Given the description of an element on the screen output the (x, y) to click on. 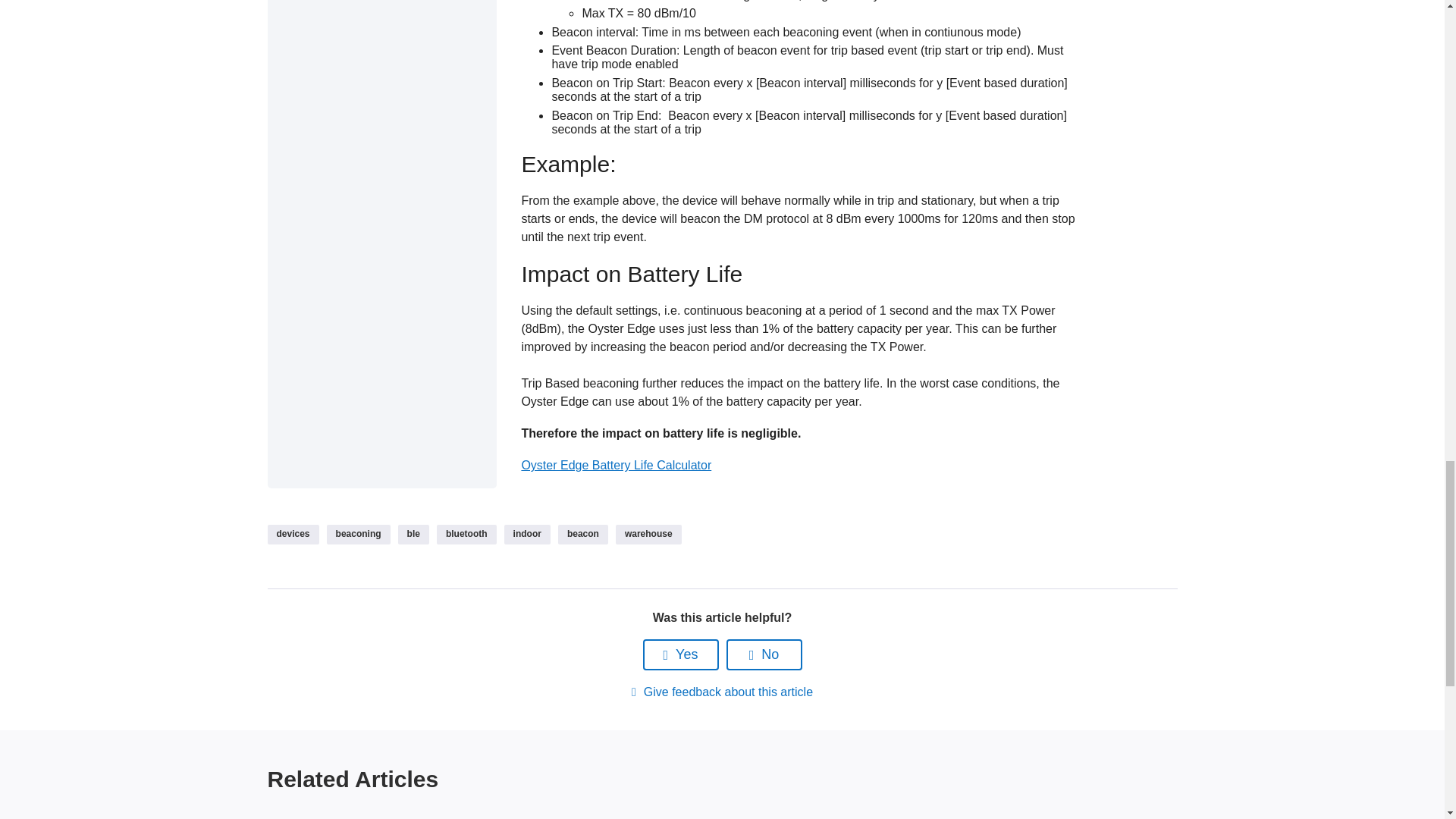
warehouse (648, 534)
Yes (681, 654)
No (764, 654)
beaconing (358, 534)
indoor (526, 534)
ble (413, 534)
Oyster Edge Battery Life Calculator (616, 464)
beacon (582, 534)
devices (292, 534)
Give feedback about this article (721, 692)
